Given the description of an element on the screen output the (x, y) to click on. 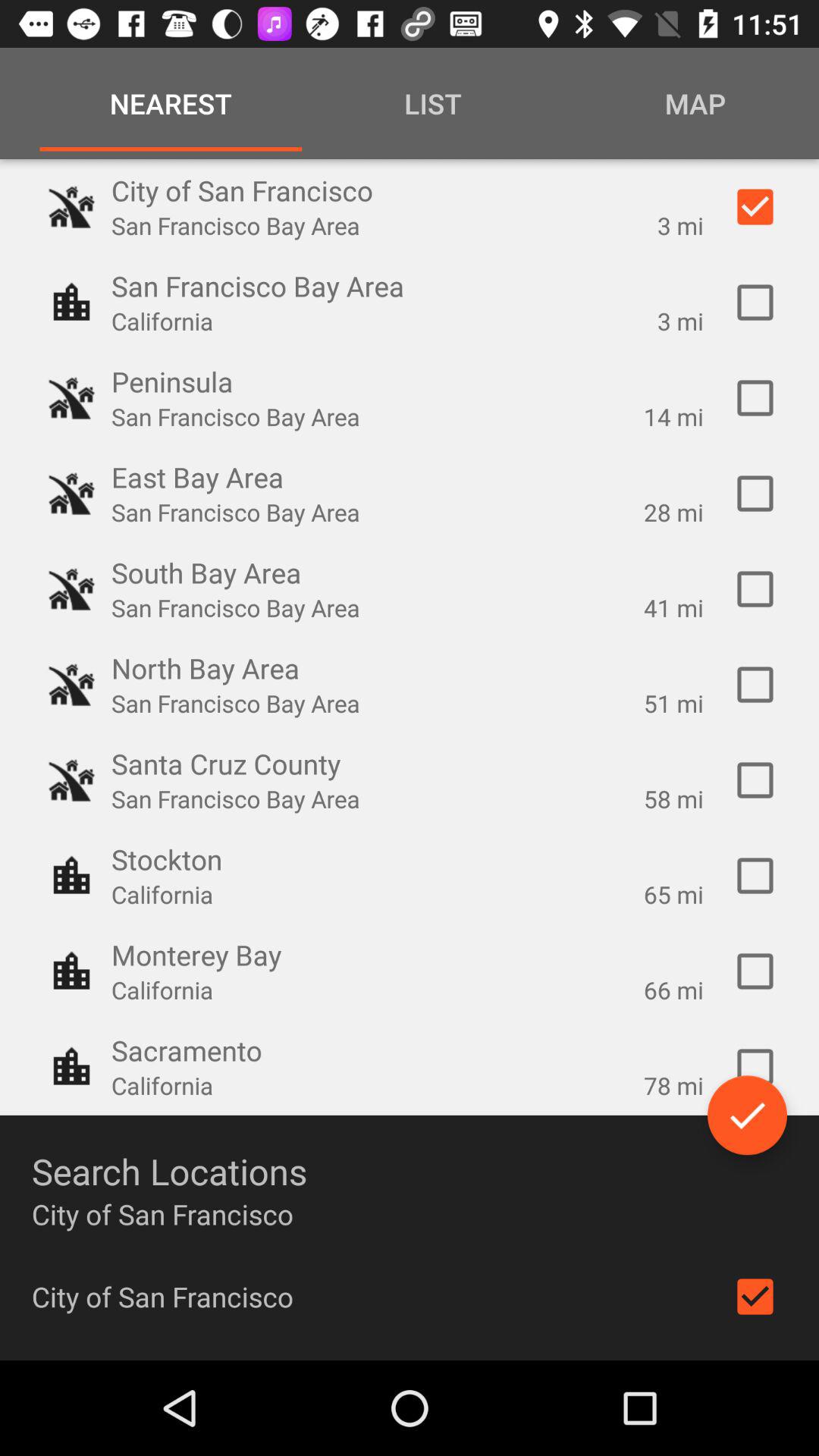
select stockton city (755, 875)
